Given the description of an element on the screen output the (x, y) to click on. 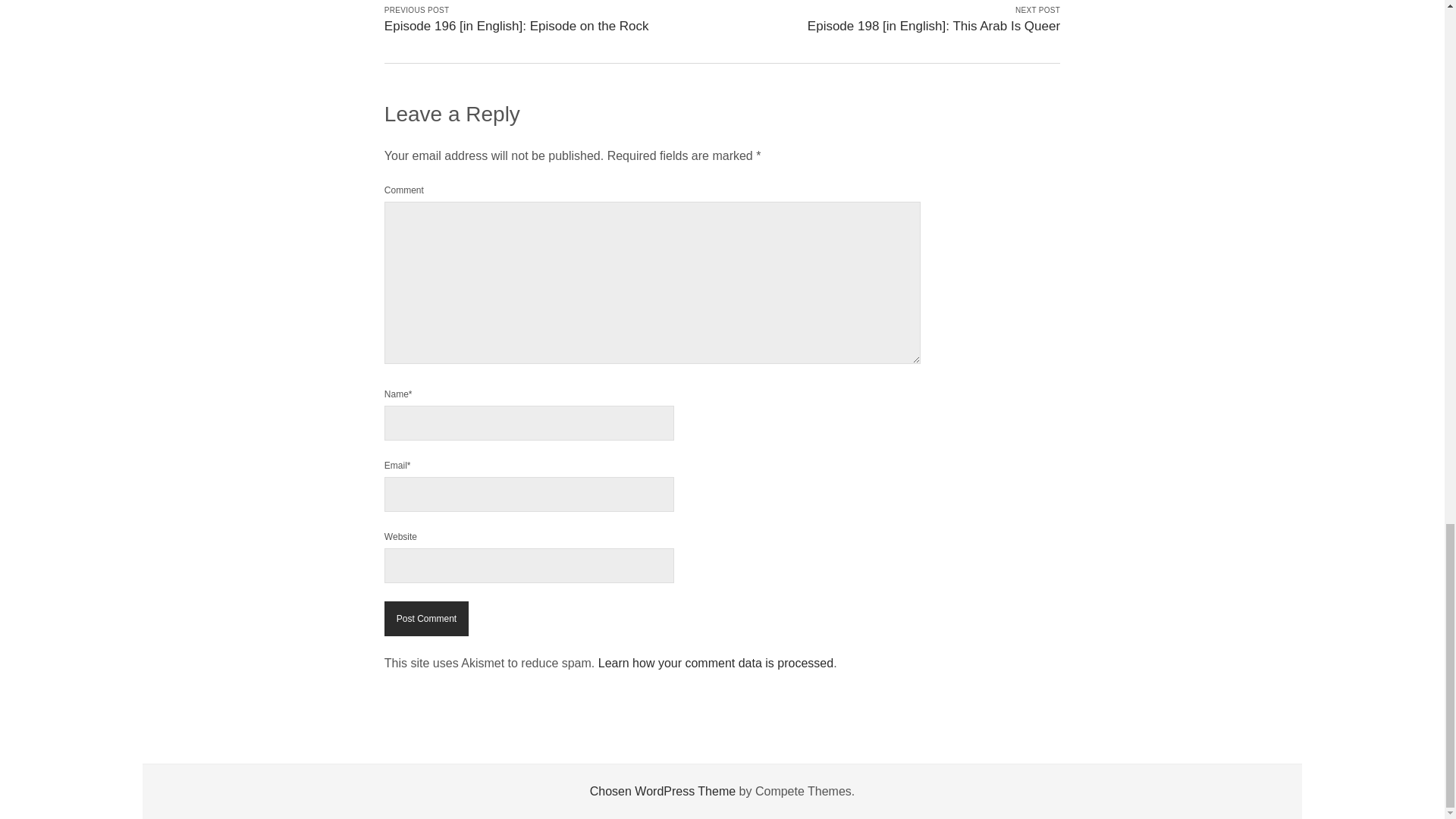
Learn how your comment data is processed (715, 662)
Post Comment (426, 618)
Post Comment (426, 618)
Chosen WordPress Theme (662, 790)
